Given the description of an element on the screen output the (x, y) to click on. 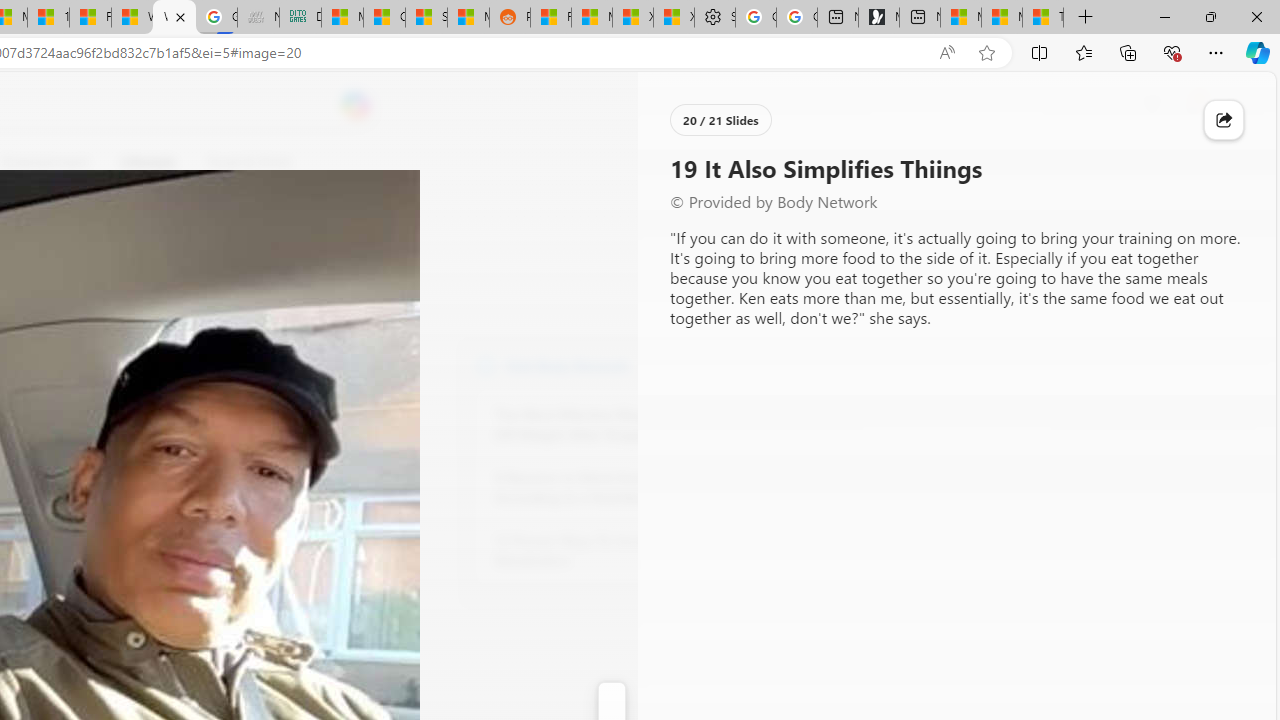
Open Copilot (355, 105)
Share this story (1224, 119)
14 Common Myths Debunked By Scientific Facts (48, 17)
8 Reasons to Drink Kombucha, According to a Nutritionist (603, 488)
MSN (468, 17)
MSNBC - MSN (342, 17)
Visit Body Network website (733, 364)
Food & Drink (240, 162)
Lifestyle (148, 162)
DITOGAMES AG Imprint (300, 17)
Lifestyle (148, 162)
Entertainment (45, 162)
